Given the description of an element on the screen output the (x, y) to click on. 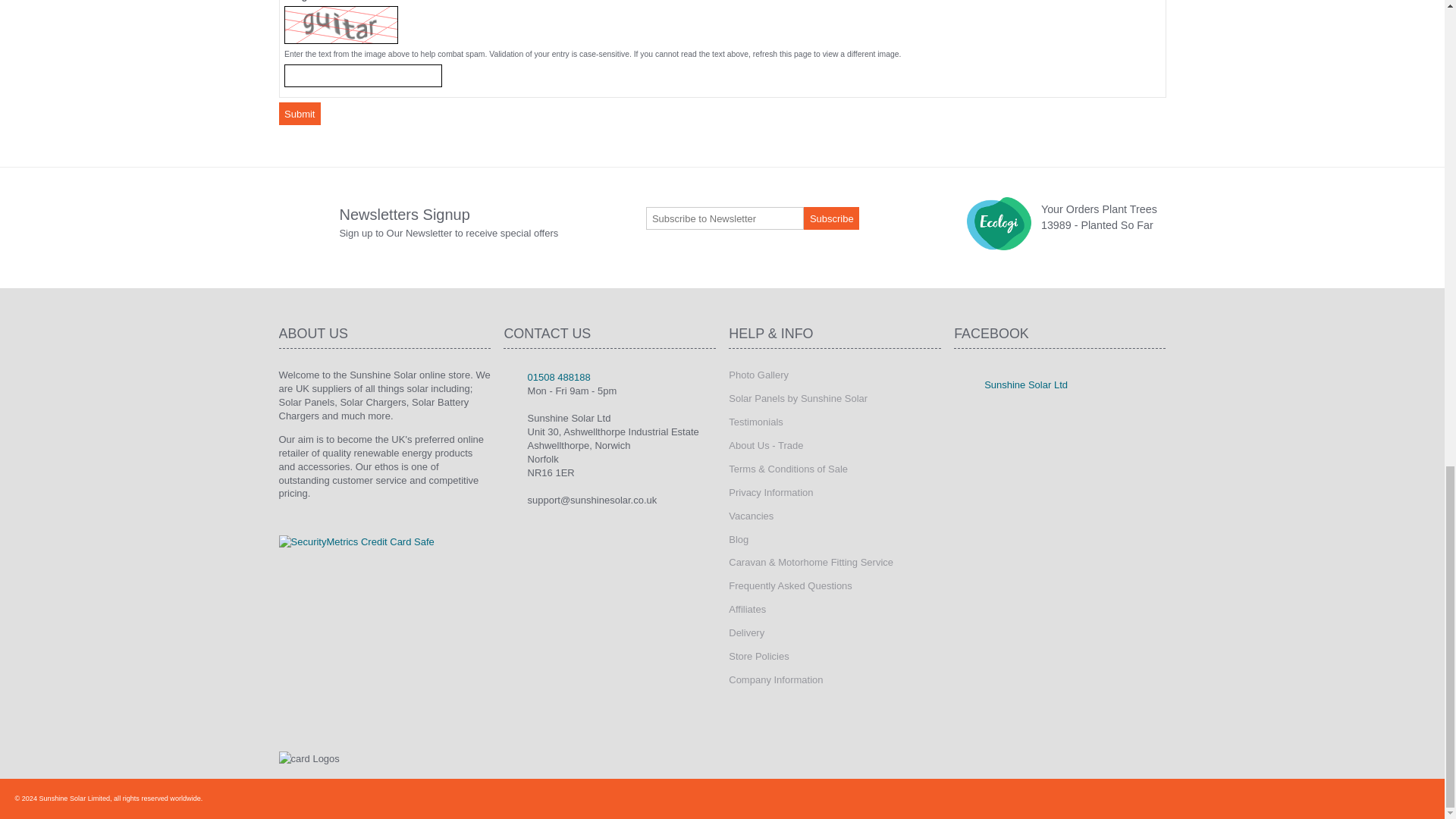
Subscribe (831, 218)
Image Verification (362, 75)
Submit (299, 113)
Submit (299, 113)
